Given the description of an element on the screen output the (x, y) to click on. 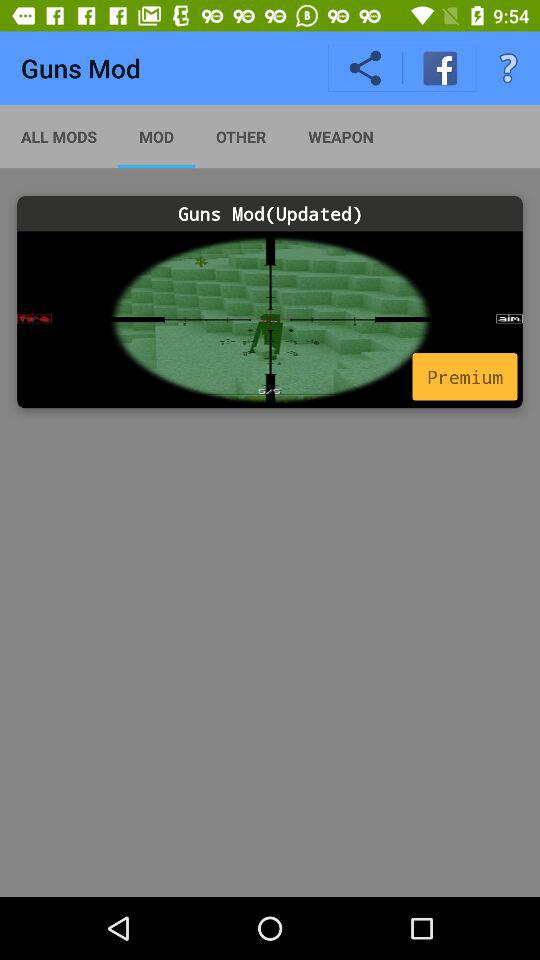
scroll until premium item (464, 376)
